Given the description of an element on the screen output the (x, y) to click on. 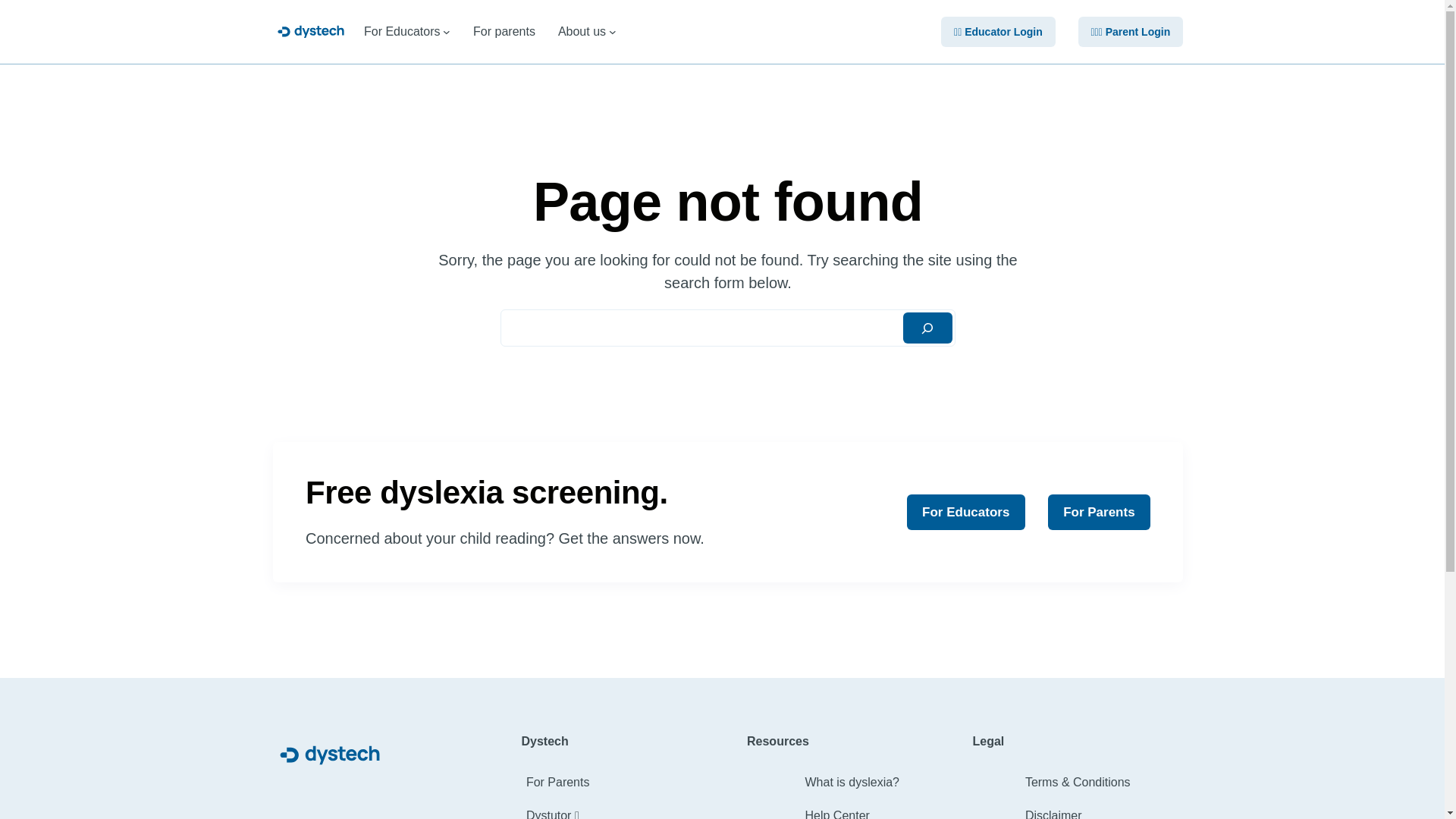
What is dyslexia? Element type: text (852, 782)
Terms & Conditions Element type: text (1077, 782)
For Parents Element type: text (557, 782)
For Educators Element type: text (401, 31)
About us Element type: text (581, 31)
For parents Element type: text (504, 31)
For Educators Element type: text (965, 512)
For Parents Element type: text (1099, 512)
